Given the description of an element on the screen output the (x, y) to click on. 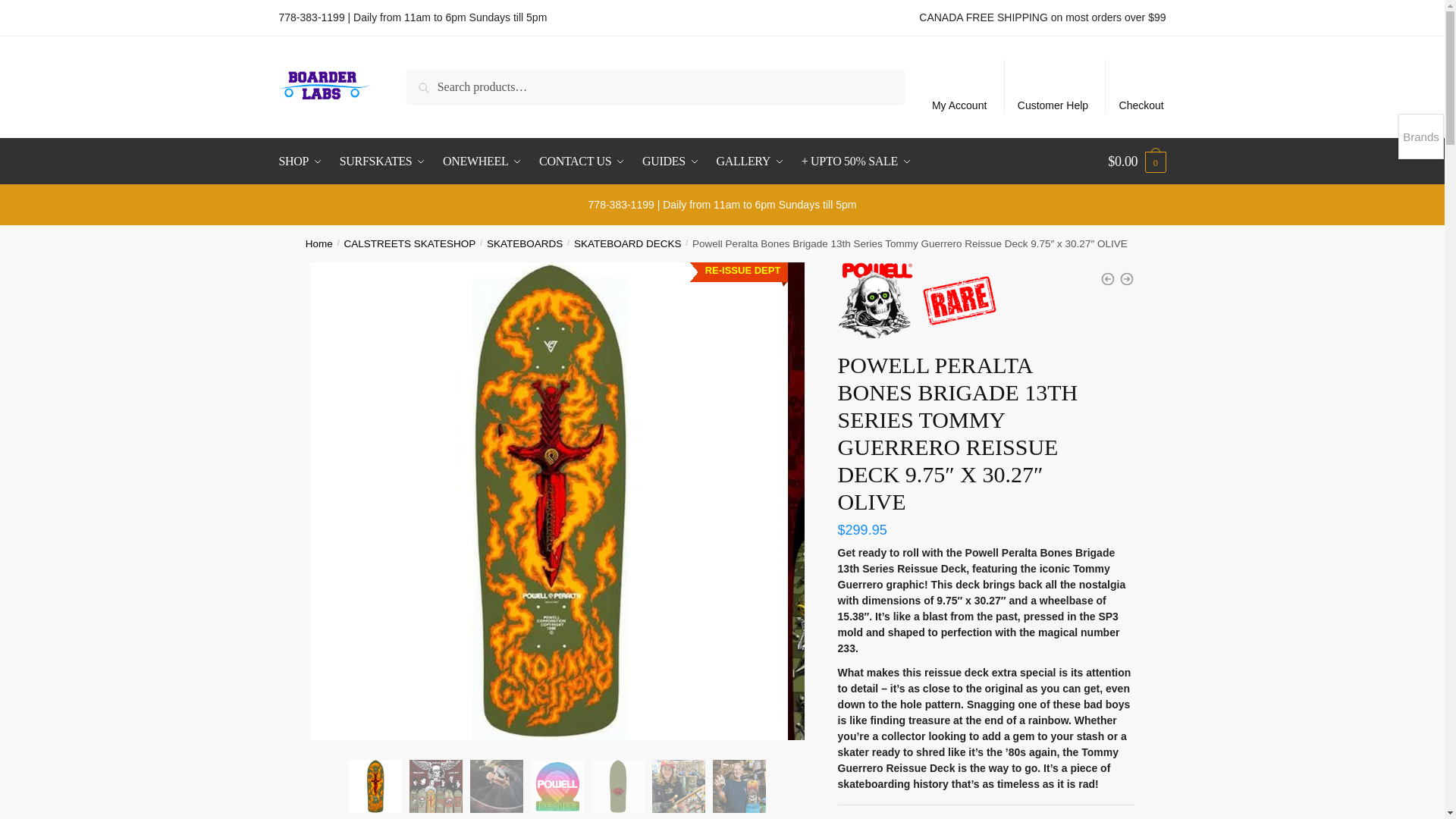
Customer Help (1053, 86)
SHOP (304, 161)
My Account (959, 86)
Search (427, 79)
View your shopping cart (1137, 161)
Checkout (1141, 86)
